Given the description of an element on the screen output the (x, y) to click on. 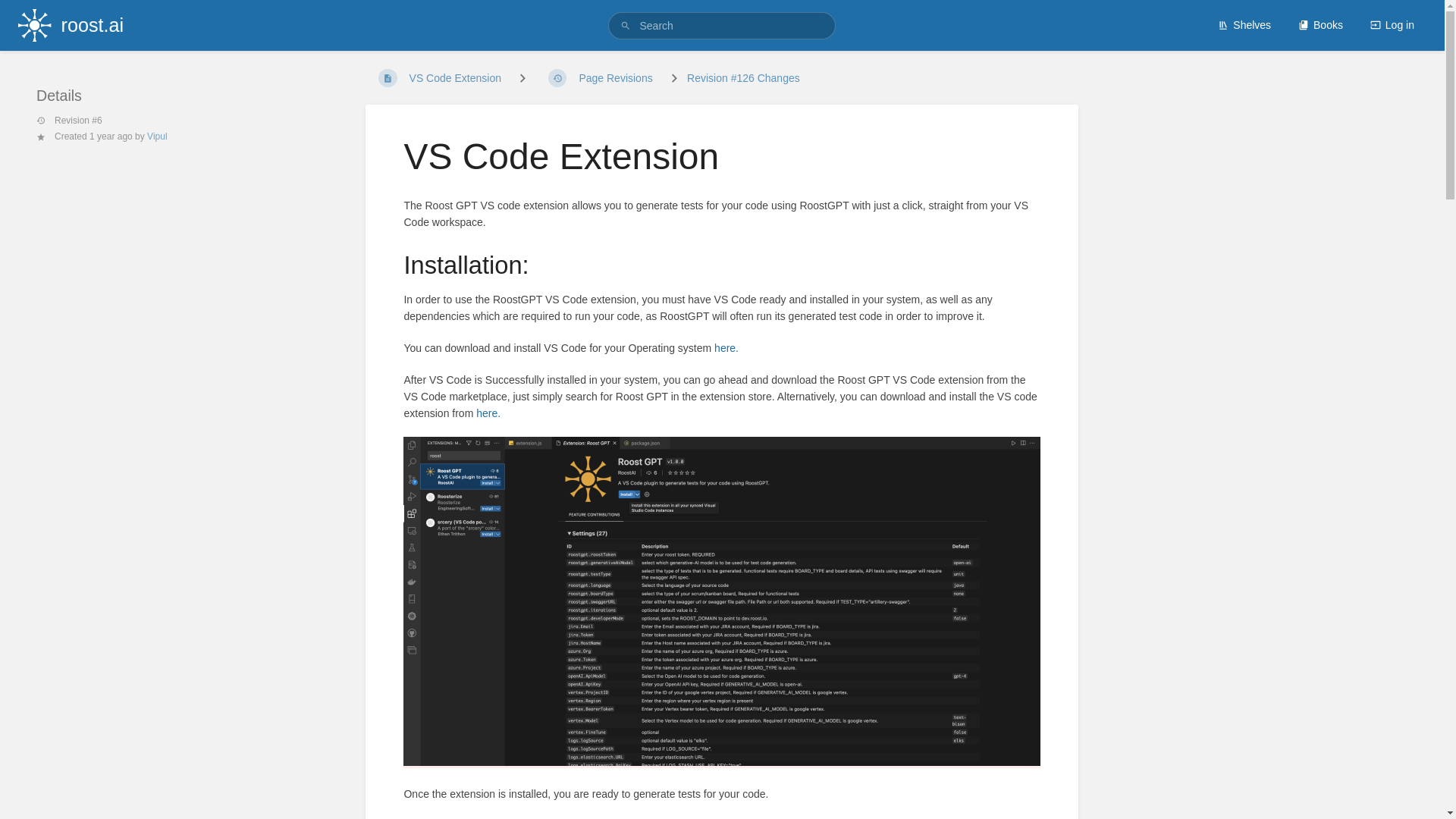
here. (488, 413)
Log in (1392, 24)
Books (1320, 24)
here. (726, 347)
roost.ai (70, 24)
Page Revisions (600, 77)
VS Code Extension (439, 77)
Vipul (157, 136)
Shelves (1243, 24)
Tue, Jul 18, 2023 11:19 PM (110, 136)
